Given the description of an element on the screen output the (x, y) to click on. 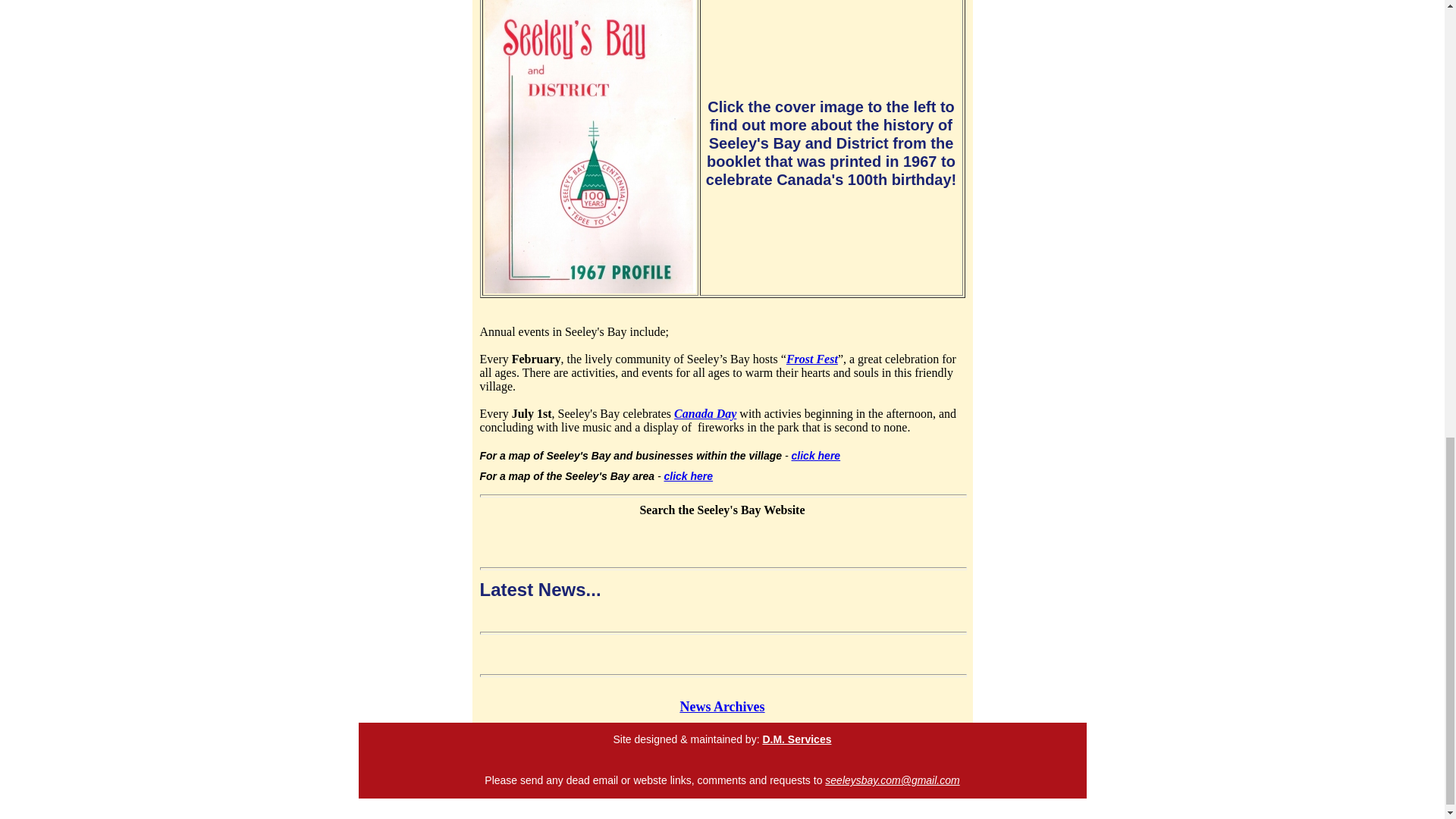
News Archives (721, 706)
click here (688, 476)
D.M. Services (796, 739)
Frost Fest (812, 358)
click here (816, 455)
Canada Day (705, 413)
